Given the description of an element on the screen output the (x, y) to click on. 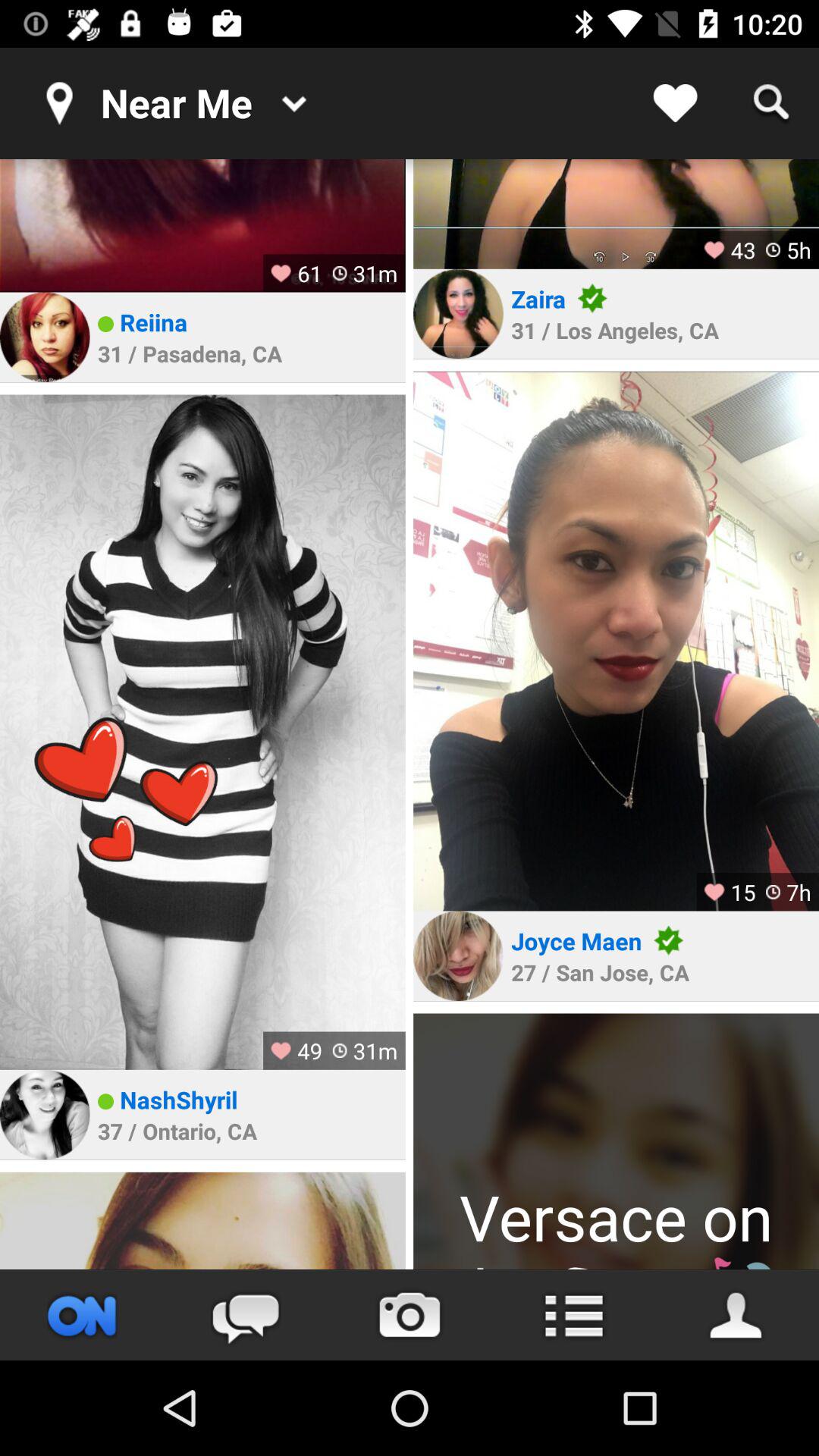
select list (573, 1315)
